Given the description of an element on the screen output the (x, y) to click on. 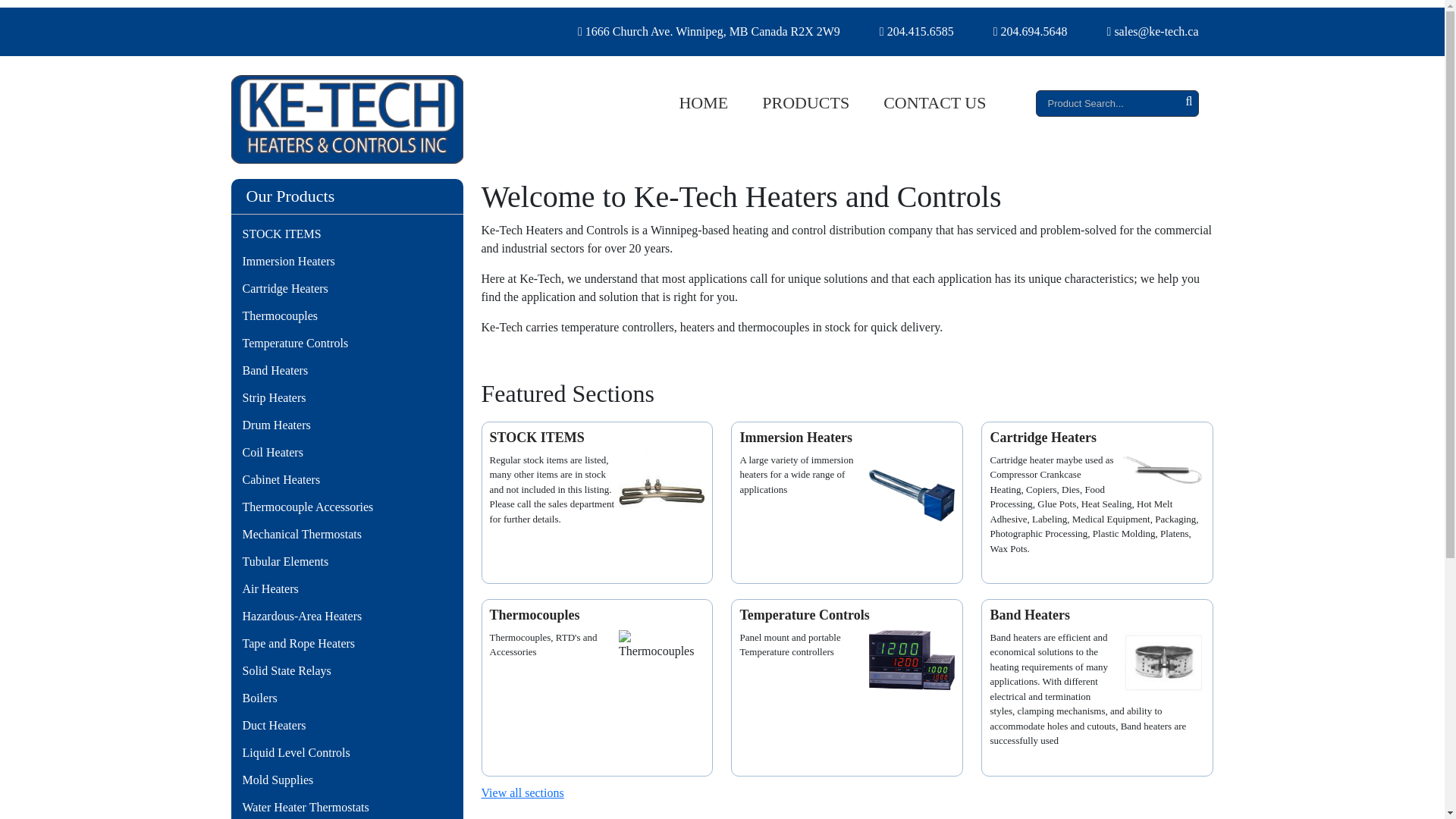
Solid State Relays (346, 670)
CONTACT US (934, 102)
Thermocouple Accessories (346, 506)
Strip Heaters (346, 397)
PRODUCTS (804, 102)
Water Heater Thermostats (346, 806)
Boilers (346, 697)
Tubular Elements (346, 561)
Band Heaters (346, 370)
Coil Heaters (346, 452)
